Given the description of an element on the screen output the (x, y) to click on. 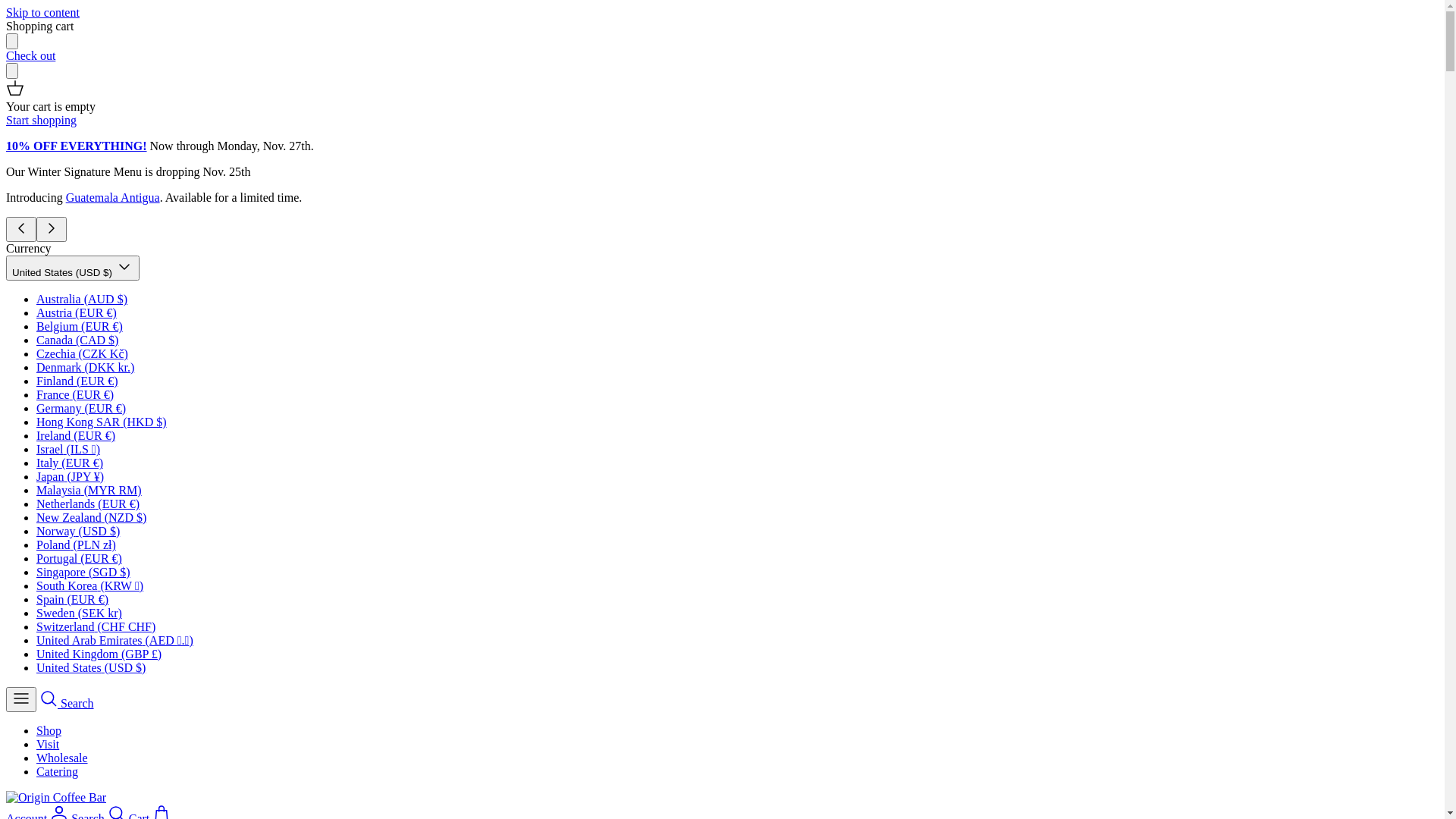
Start shopping Element type: text (41, 119)
Denmark (DKK kr.) Element type: text (85, 366)
Left Element type: text (21, 228)
Hong Kong SAR (HKD $) Element type: text (101, 421)
Skip to content Element type: text (42, 12)
Catering Element type: text (57, 771)
Malaysia (MYR RM) Element type: text (88, 489)
Search Element type: text (66, 702)
Norway (USD $) Element type: text (77, 530)
Check out Element type: text (30, 55)
10% OFF EVERYTHING! Element type: text (76, 145)
New Zealand (NZD $) Element type: text (91, 517)
Guatemala Antigua Element type: text (112, 197)
Shop Element type: text (48, 730)
Switzerland (CHF CHF) Element type: text (95, 626)
Origin Coffee Bar Element type: hover (56, 796)
United States (USD $) Down Element type: text (72, 267)
Australia (AUD $) Element type: text (81, 298)
Visit Element type: text (47, 743)
Singapore (SGD $) Element type: text (83, 571)
Sweden (SEK kr) Element type: text (79, 612)
Canada (CAD $) Element type: text (77, 339)
Wholesale Element type: text (61, 757)
Right Element type: text (51, 228)
United States (USD $) Element type: text (90, 667)
